Given the description of an element on the screen output the (x, y) to click on. 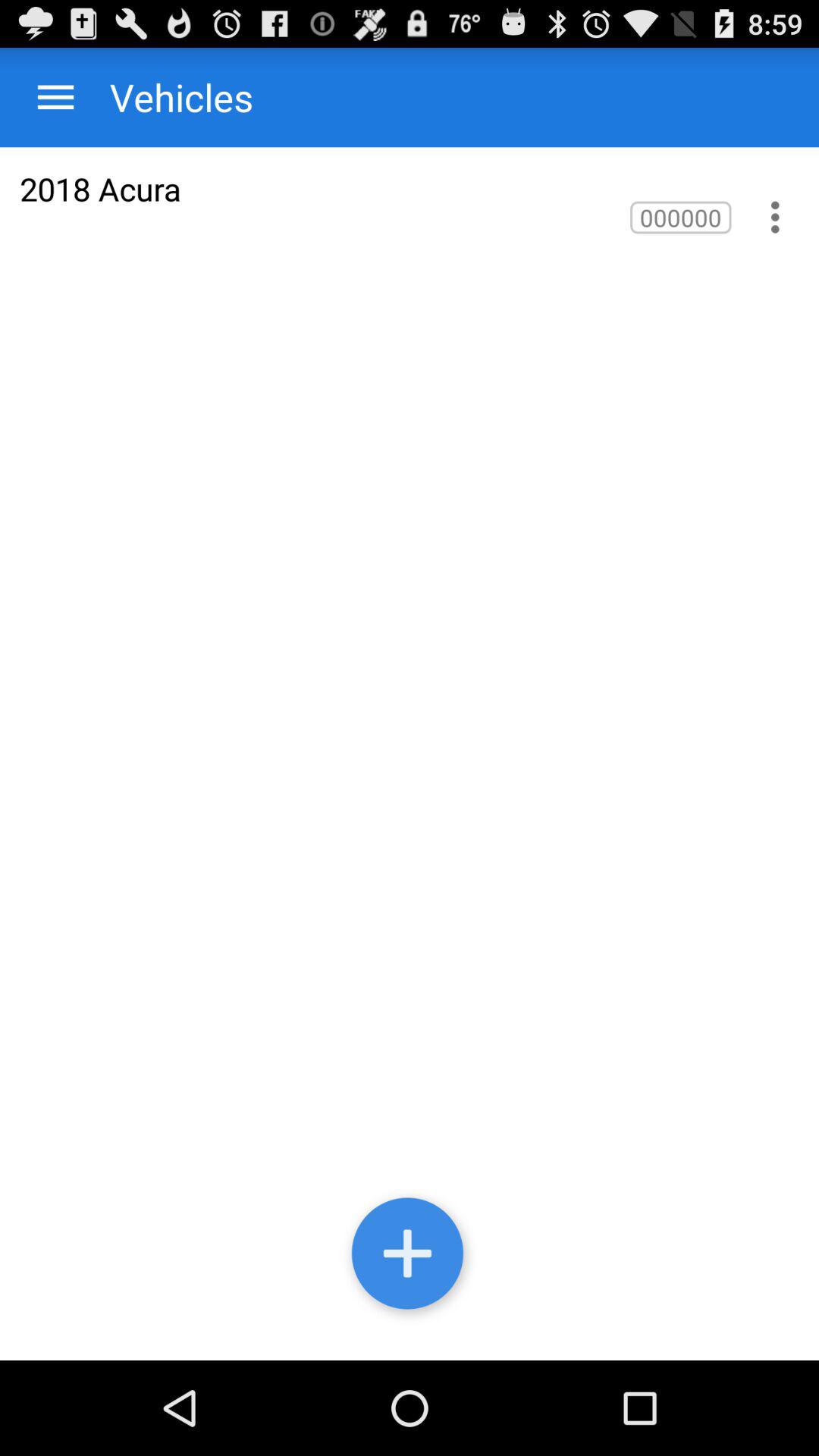
open app next to the 000000 (99, 188)
